Given the description of an element on the screen output the (x, y) to click on. 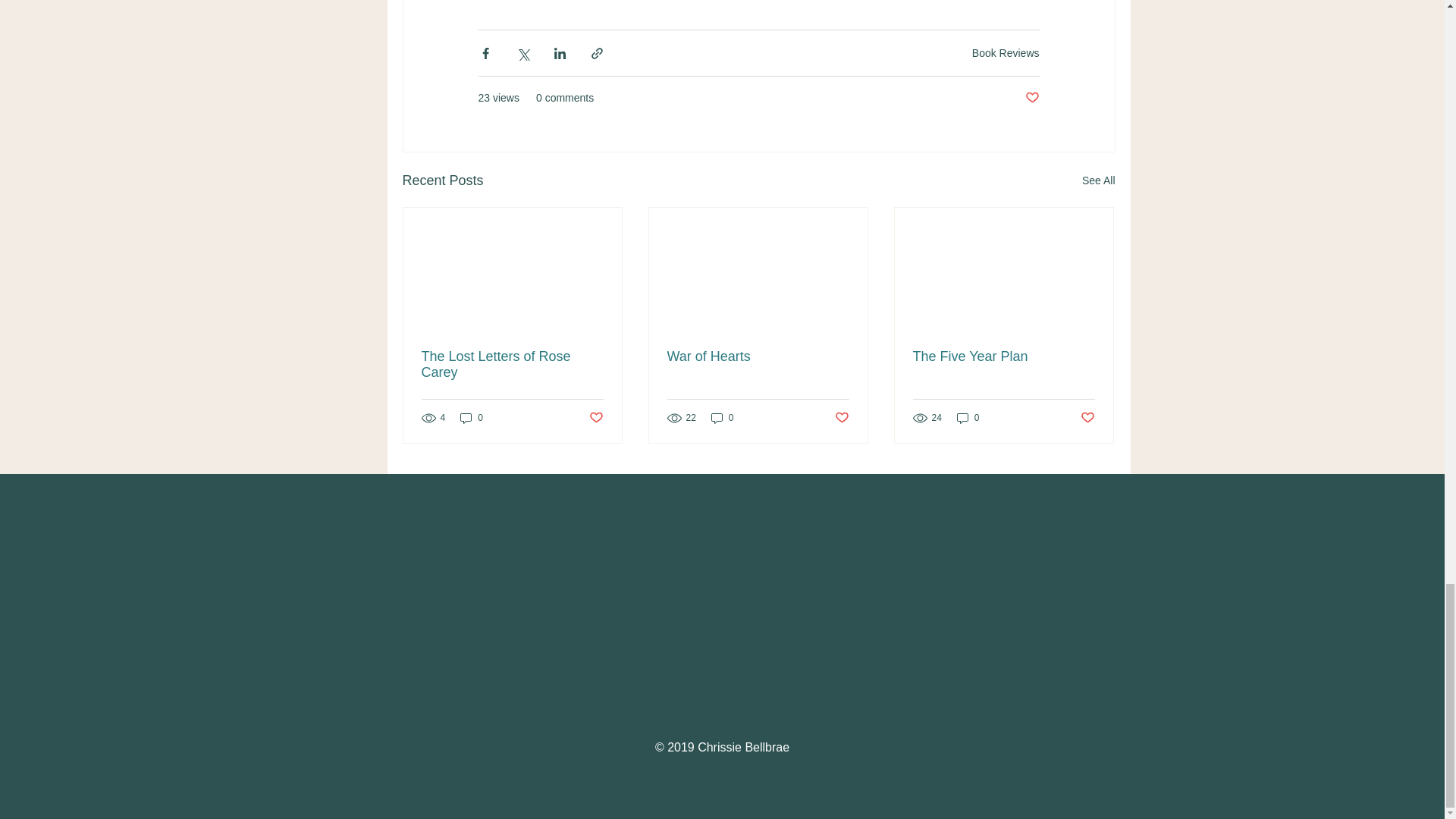
Book Reviews (1005, 51)
0 (471, 417)
Post not marked as liked (595, 417)
The Lost Letters of Rose Carey (513, 364)
Post not marked as liked (1032, 98)
See All (1098, 180)
